Given the description of an element on the screen output the (x, y) to click on. 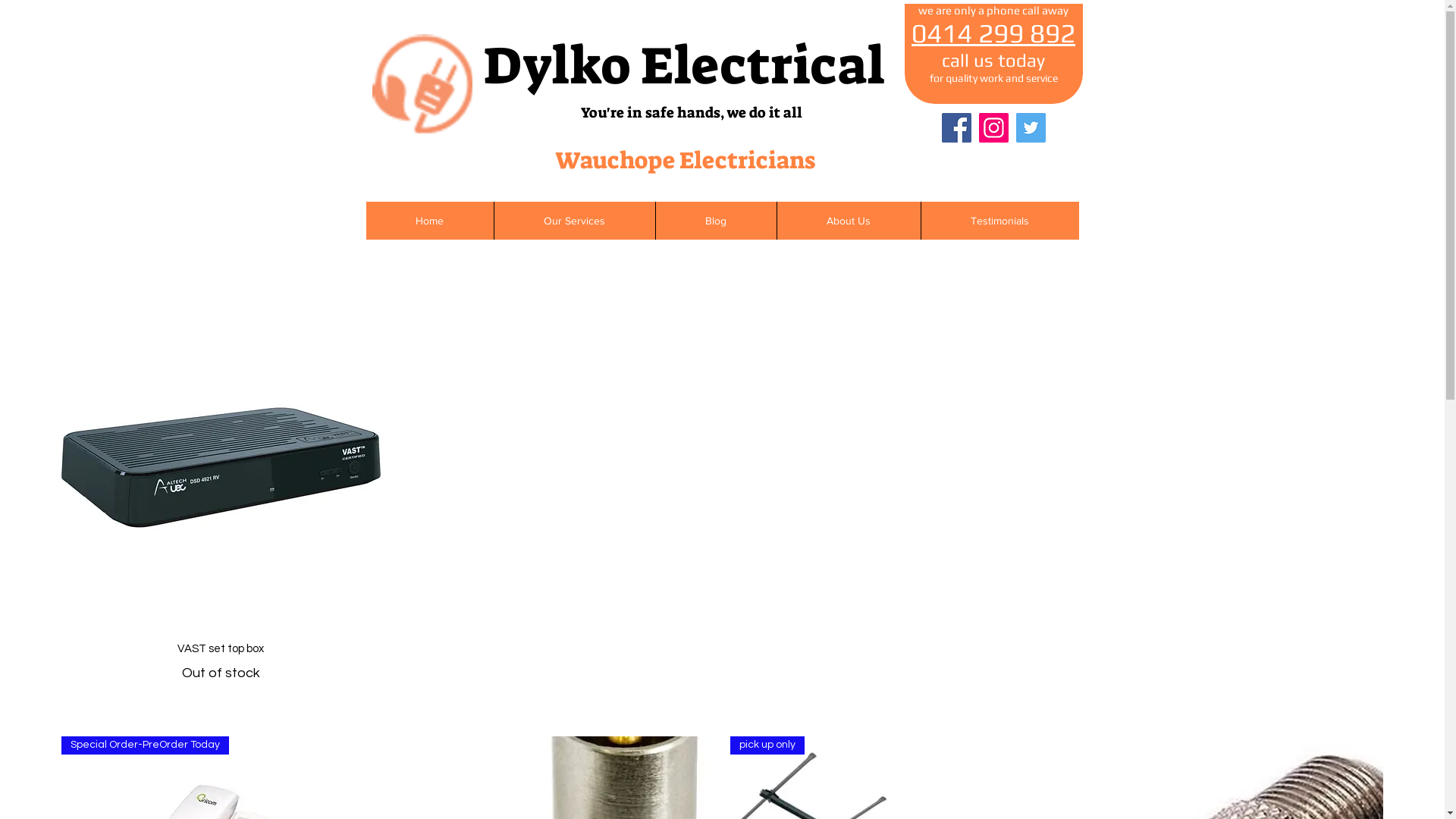
VAST set top box
Out of stock Element type: text (220, 660)
0414 299 892 Element type: text (993, 34)
About Us Element type: text (848, 220)
orange2 plug and leaf.png Element type: hover (421, 84)
Testimonials Element type: text (999, 220)
Home Element type: text (428, 220)
Dylko Electrical Element type: text (683, 65)
Blog Element type: text (715, 220)
Our Services Element type: text (573, 220)
